Given the description of an element on the screen output the (x, y) to click on. 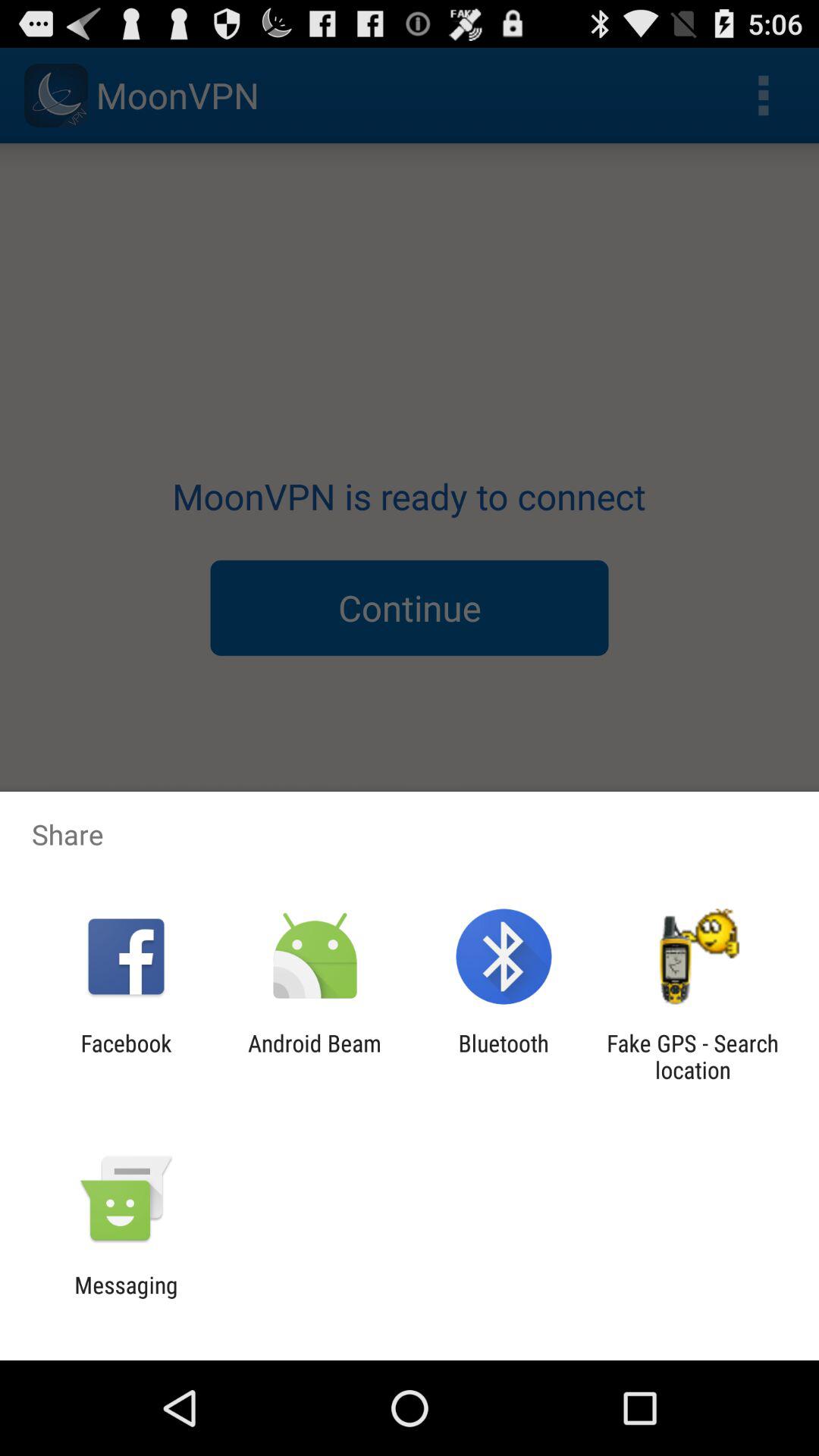
tap the item at the bottom right corner (692, 1056)
